Given the description of an element on the screen output the (x, y) to click on. 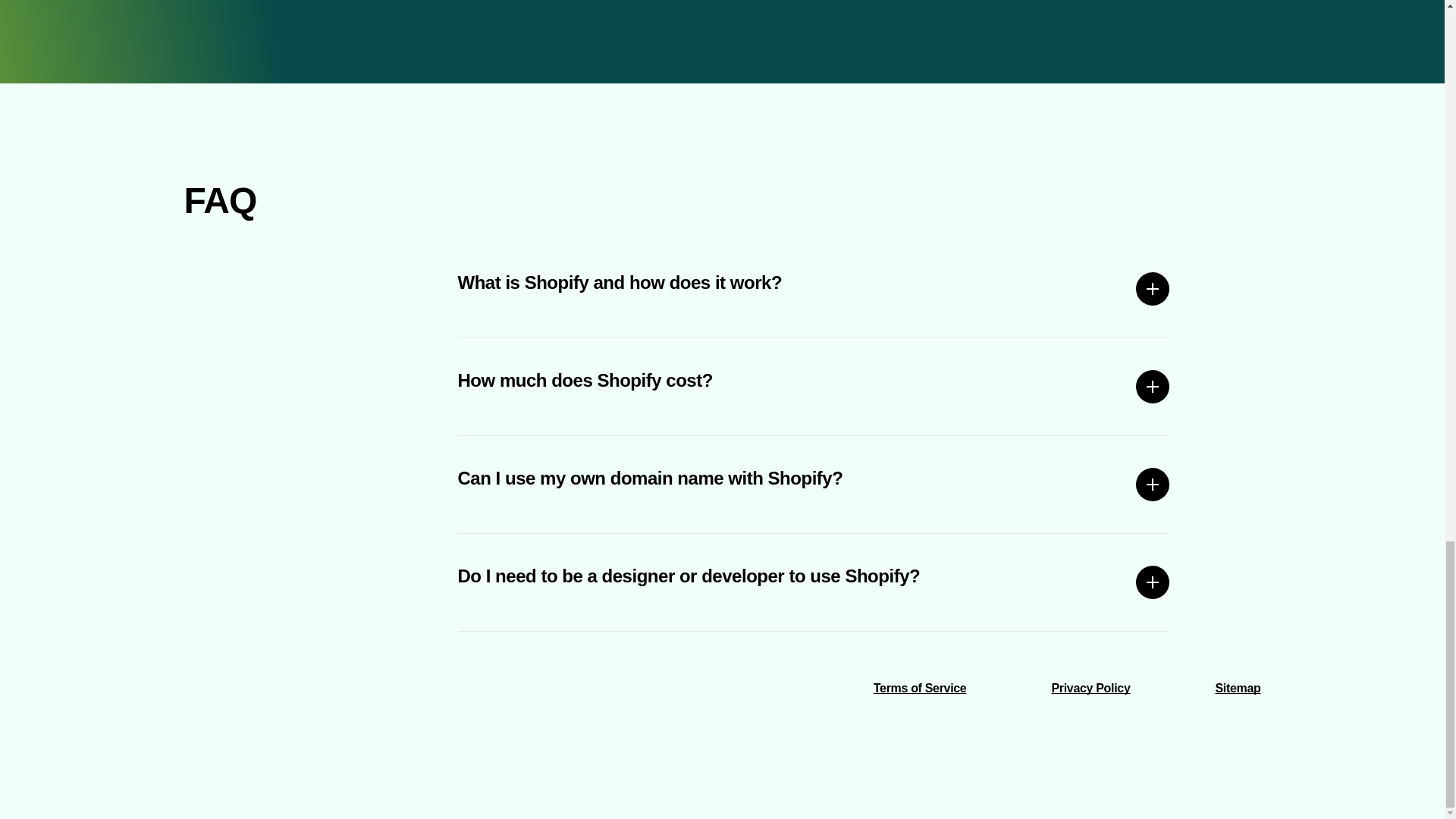
Terms of Service (919, 687)
Can I use my own domain name with Shopify? (814, 484)
Privacy Policy (1090, 687)
How much does Shopify cost? (814, 386)
Do I need to be a designer or developer to use Shopify? (814, 582)
What is Shopify and how does it work? (814, 289)
Sitemap (1237, 687)
